Given the description of an element on the screen output the (x, y) to click on. 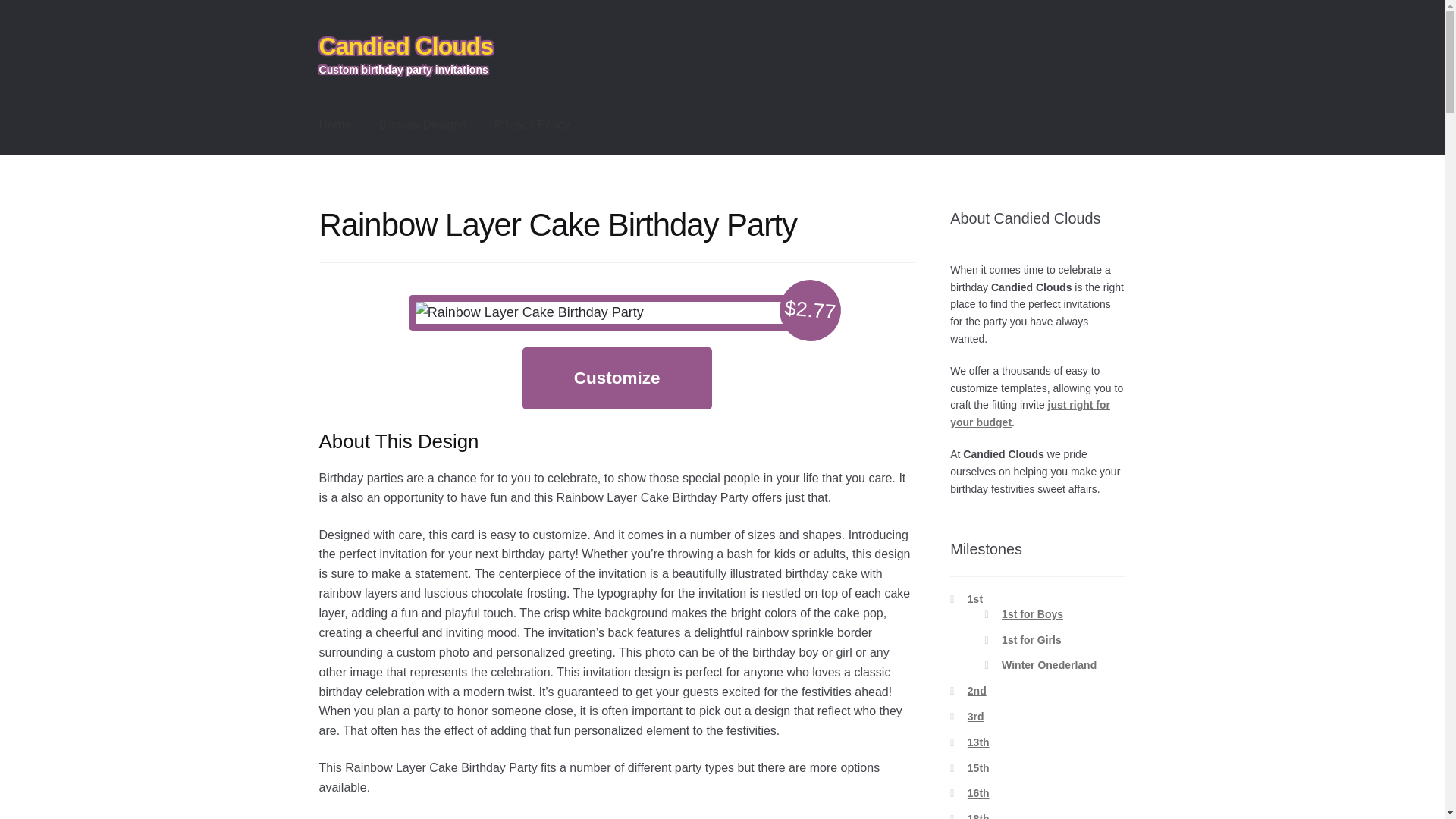
15th (979, 767)
1st for Boys (1031, 613)
just right for your budget (1029, 413)
Home (335, 124)
Candied Clouds (405, 45)
1st (975, 598)
Browse Designs (422, 124)
13th (979, 742)
3rd (976, 716)
